Given the description of an element on the screen output the (x, y) to click on. 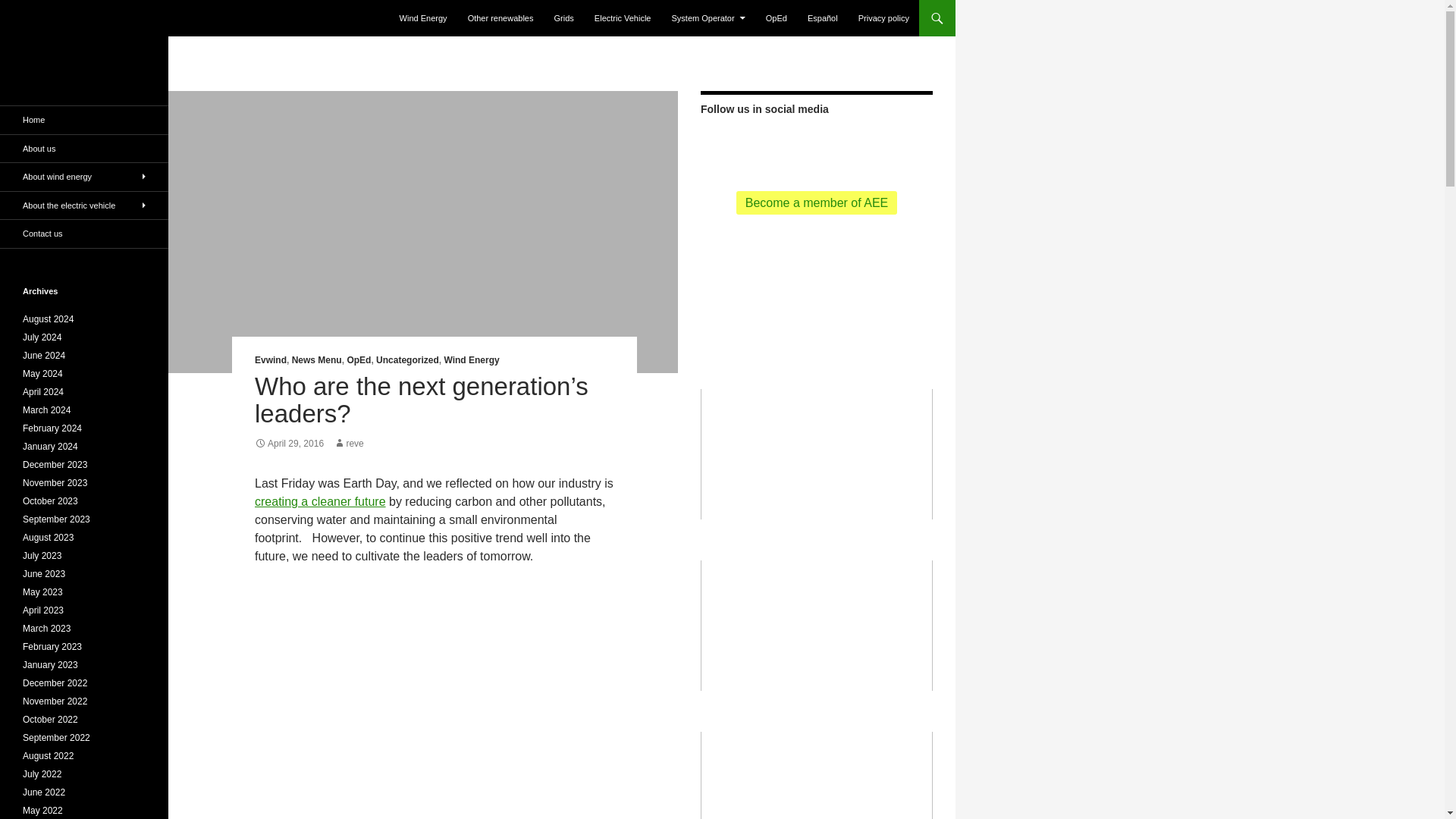
reve (347, 443)
Wind Energy (471, 359)
youtube (843, 144)
Grids (563, 18)
OpEd (776, 18)
flickr (871, 144)
facebook (816, 144)
RSS (762, 144)
Evwind (270, 359)
youtube (843, 145)
facebook (816, 145)
Uncategorized (407, 359)
OpEd (358, 359)
System Operator (708, 18)
RSS (761, 145)
